Given the description of an element on the screen output the (x, y) to click on. 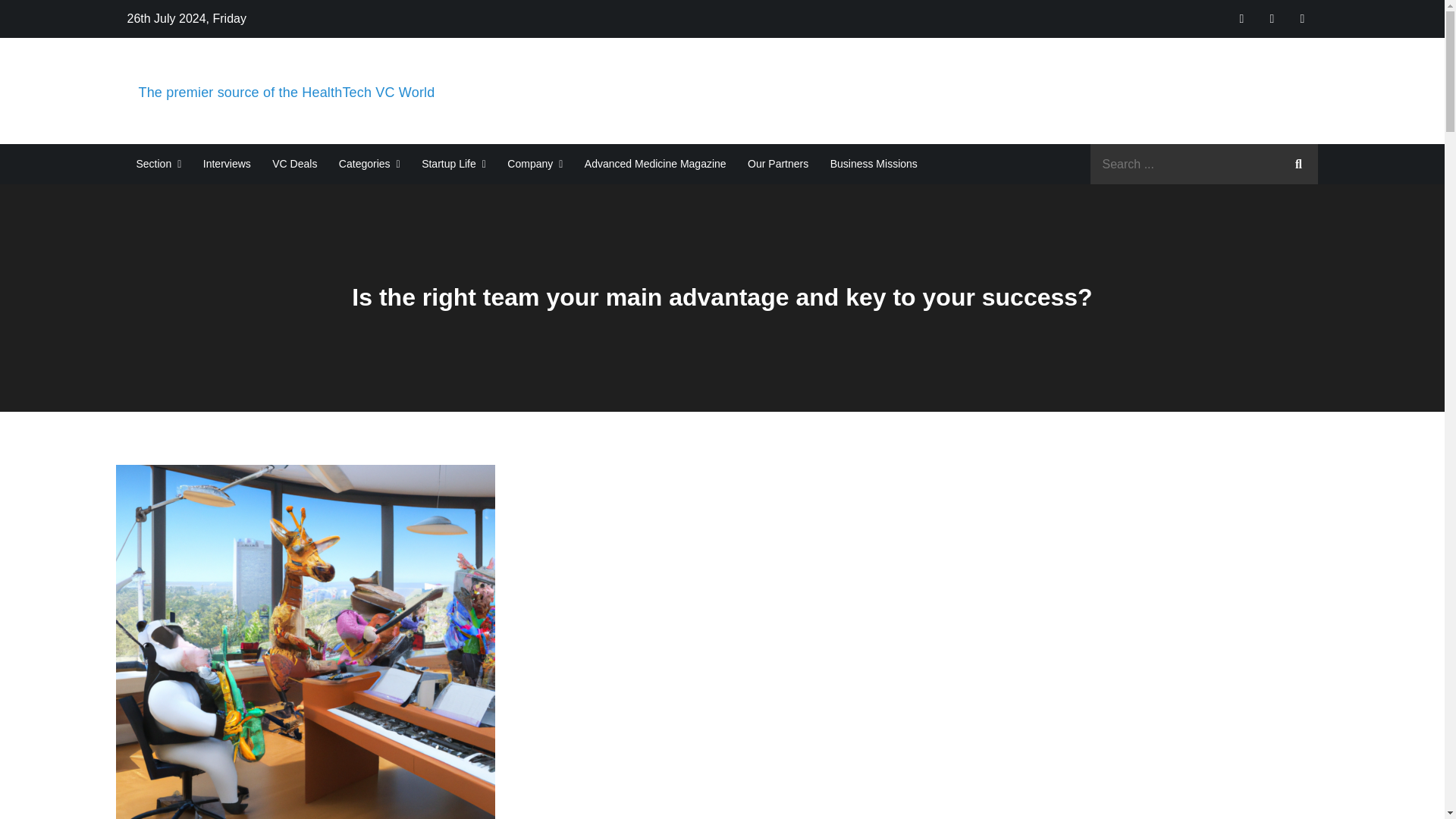
Search for: (1203, 164)
Interviews (226, 163)
Section (159, 164)
Categories (369, 164)
VC Deals (294, 163)
Startup Life (453, 164)
